Given the description of an element on the screen output the (x, y) to click on. 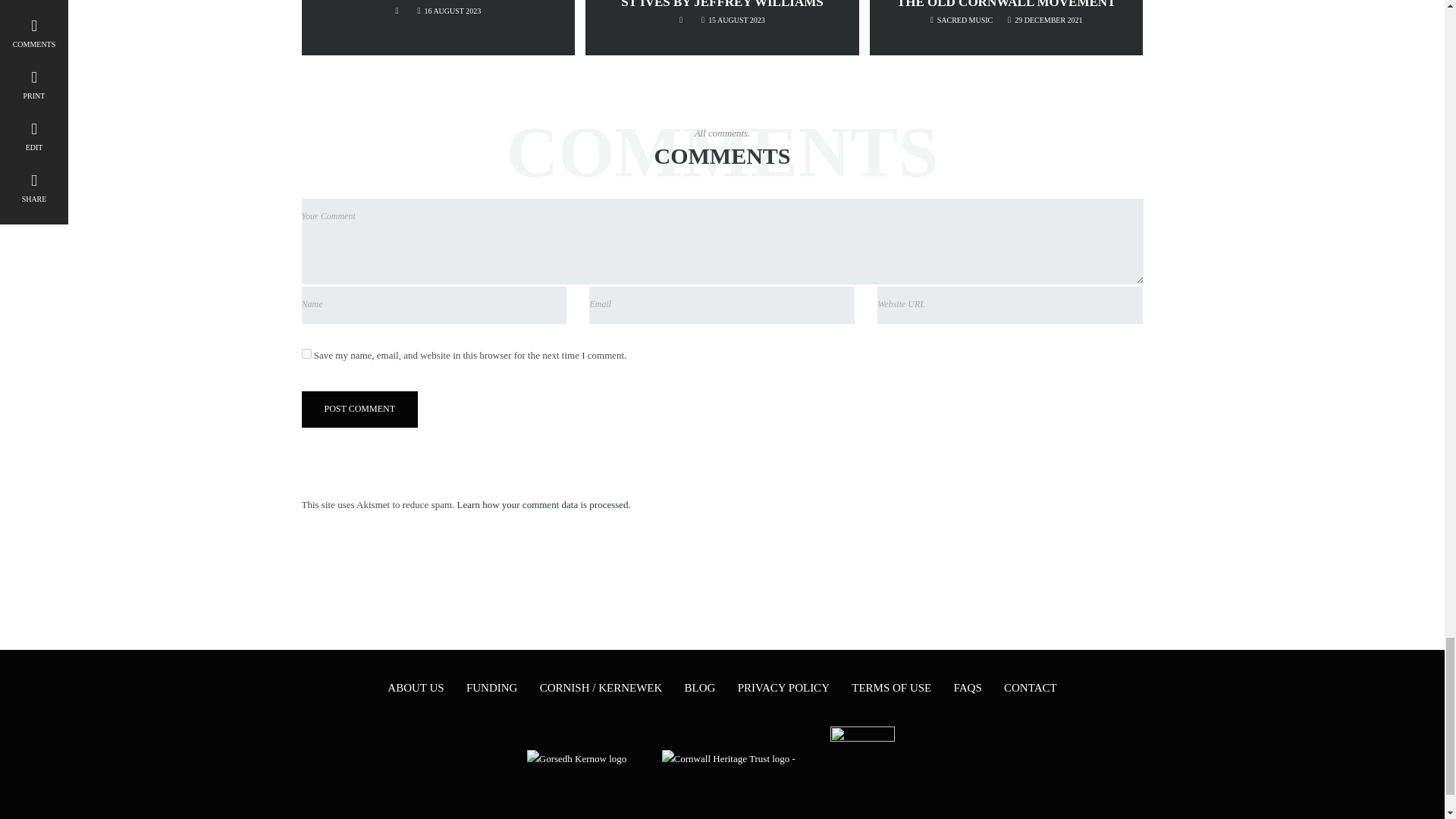
yes (306, 353)
Post Comment (359, 408)
